Given the description of an element on the screen output the (x, y) to click on. 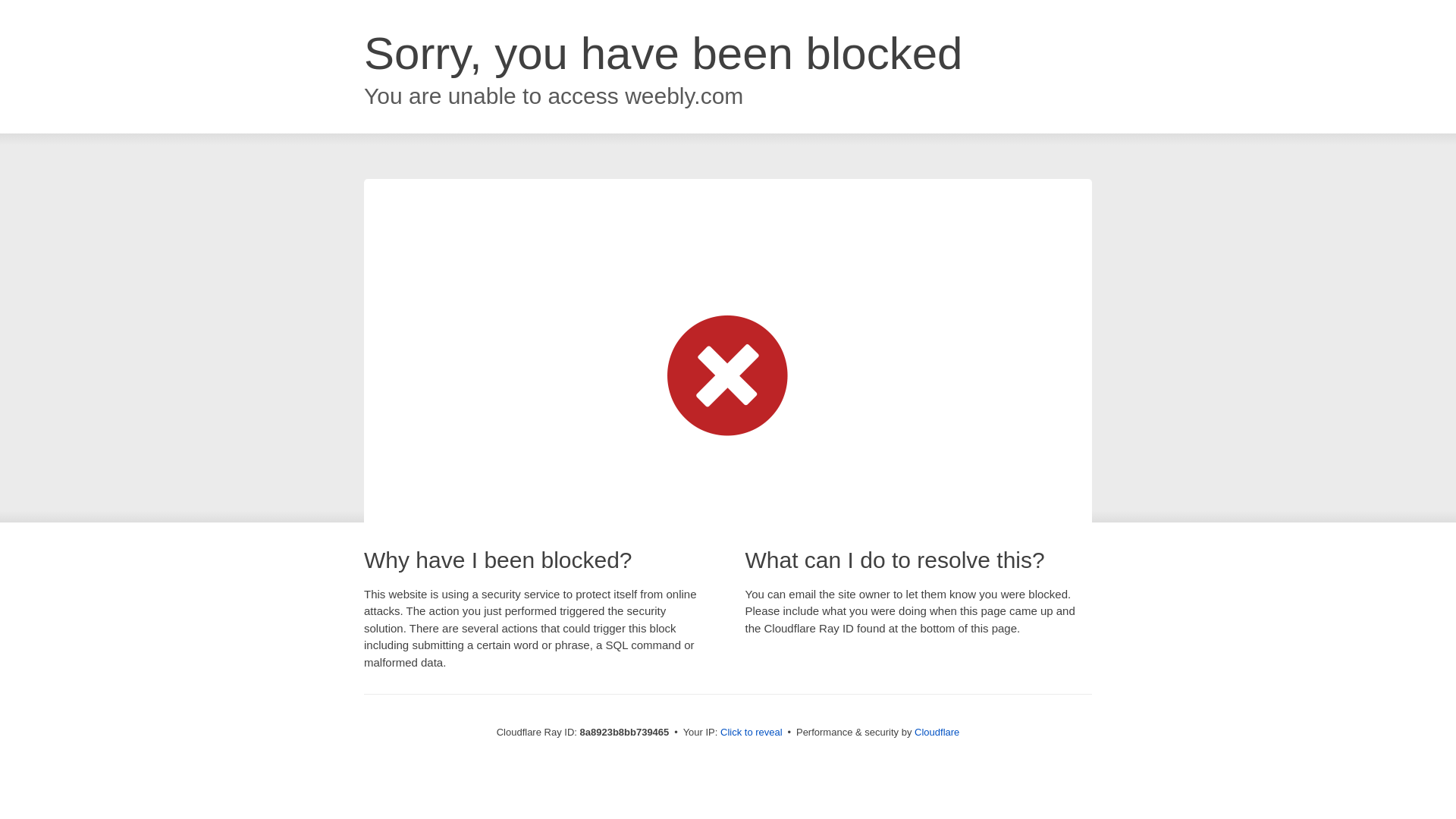
Click to reveal (751, 732)
Cloudflare (936, 731)
